Given the description of an element on the screen output the (x, y) to click on. 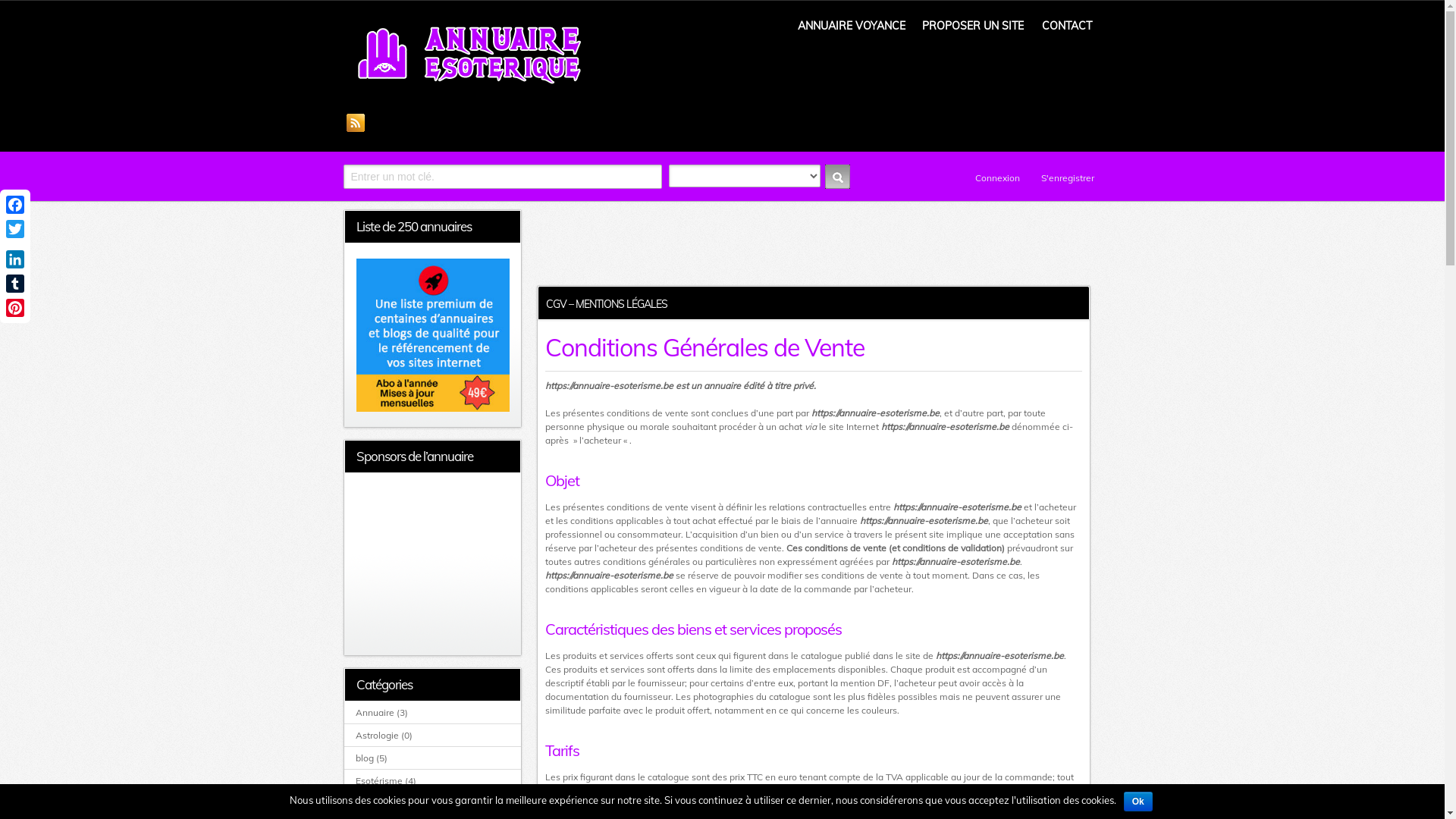
Advertisement Element type: hover (915, 106)
  Element type: text (837, 176)
Advertisement Element type: hover (432, 564)
ANNUAIRE VOYANCE Element type: text (851, 25)
LinkedIn Element type: text (15, 259)
   Element type: text (355, 120)
Pinterest Element type: text (15, 307)
Connexion Element type: text (989, 177)
Google+ Element type: hover (15, 244)
Advertisement Element type: hover (812, 243)
Ok Element type: text (1137, 801)
Facebook Element type: text (15, 204)
Annuaire (3) Element type: text (381, 712)
CONTACT Element type: text (1066, 25)
PROPOSER UN SITE Element type: text (972, 25)
S'enregistrer Element type: text (1059, 177)
Astrologie (0) Element type: text (383, 735)
Tumblr Element type: text (15, 283)
blog (5) Element type: text (371, 757)
Twitter Element type: text (15, 228)
